Given the description of an element on the screen output the (x, y) to click on. 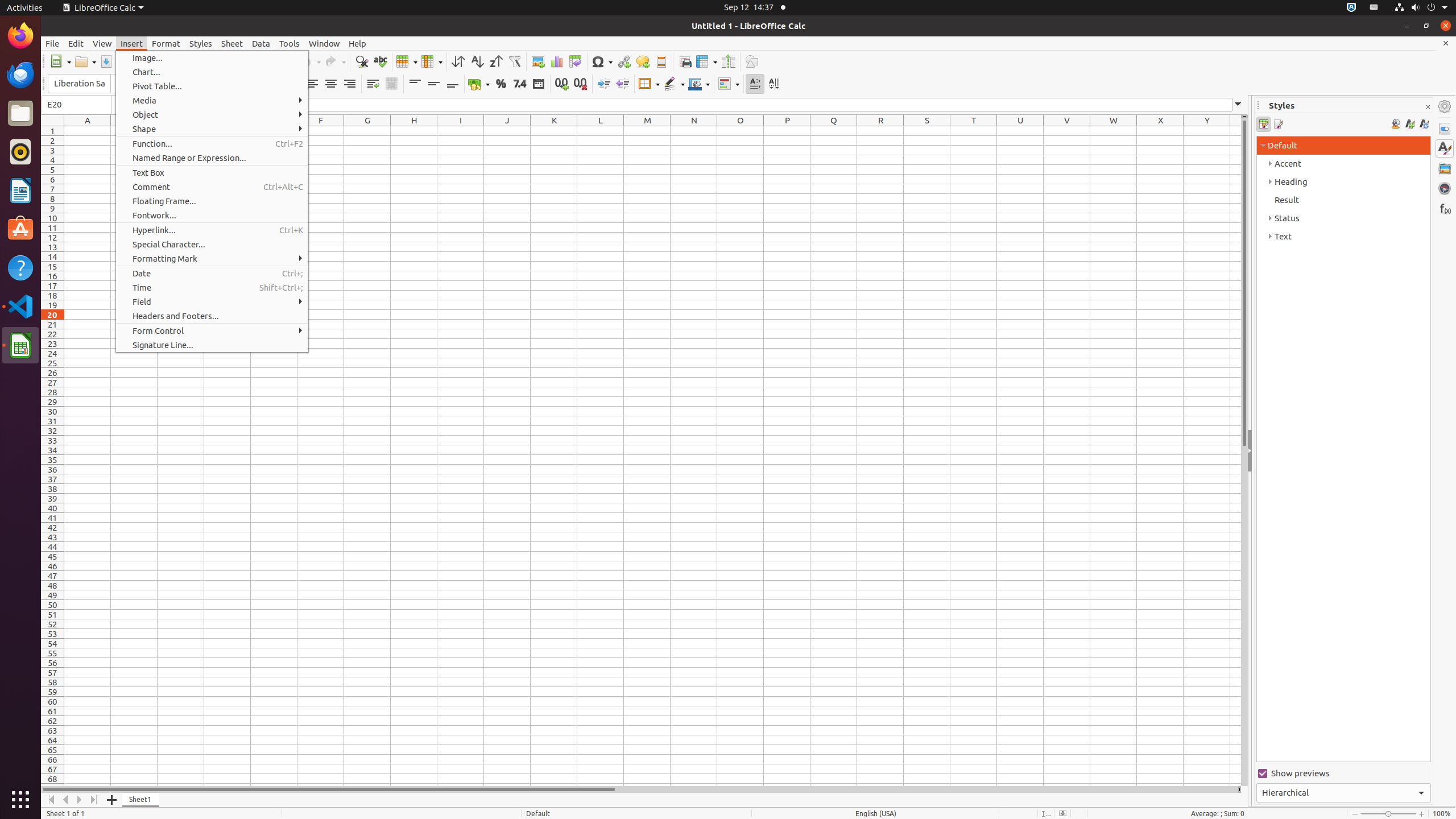
Wrap Text Element type: push-button (372, 83)
Align Bottom Element type: push-button (452, 83)
Add Decimal Place Element type: push-button (561, 83)
N1 Element type: table-cell (693, 130)
Page Styles Element type: push-button (1277, 123)
